Given the description of an element on the screen output the (x, y) to click on. 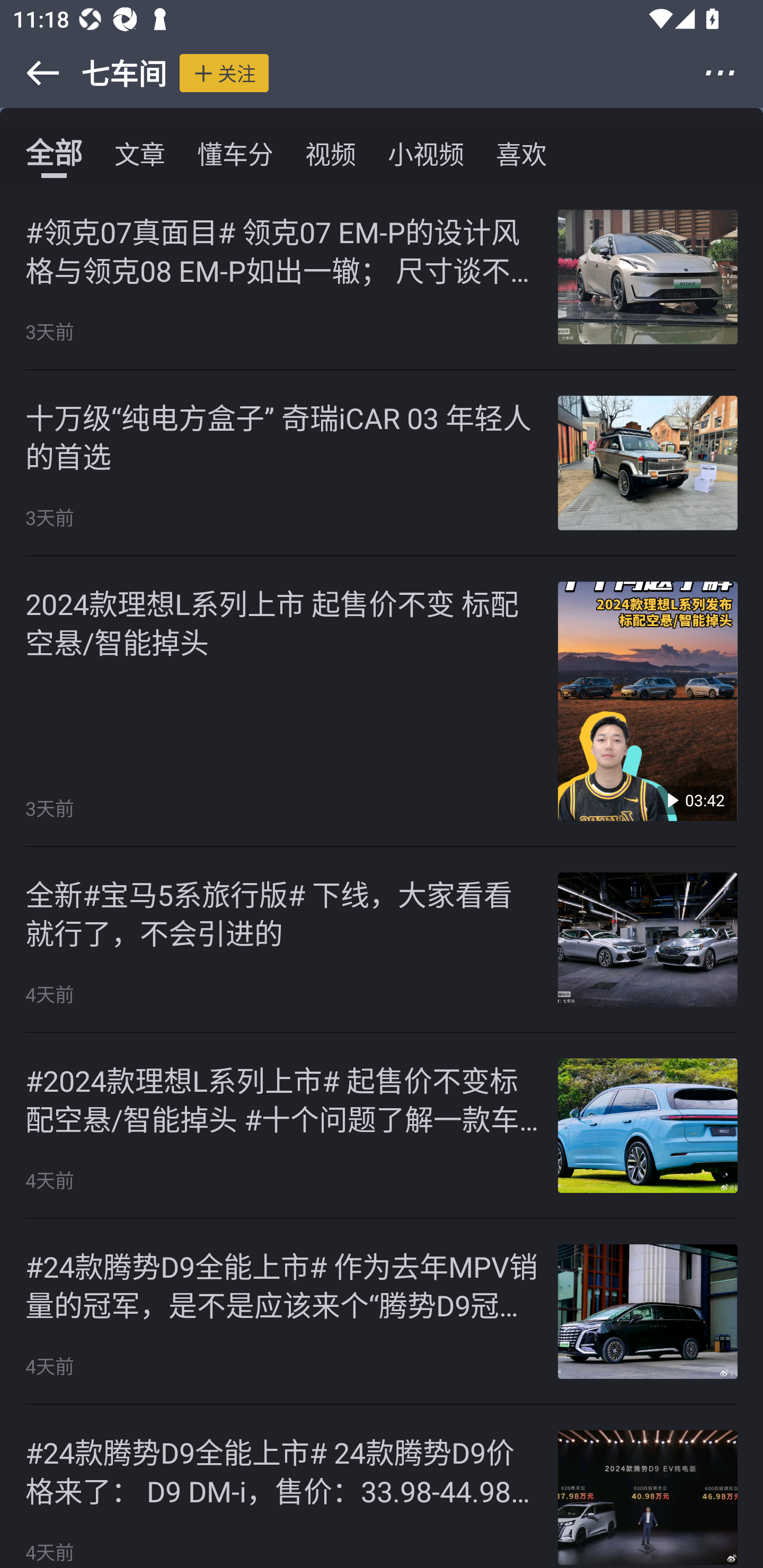
 (30, 72)
 (732, 72)
 关注 (223, 72)
全部 (53, 152)
文章 (139, 152)
懂车分 (234, 152)
视频 (330, 152)
小视频 (425, 152)
喜欢 (521, 152)
十万级“纯电方盒子” 奇瑞iCAR 03 年轻人的首选 3天前 (381, 463)
2024款理想L系列上市 起售价不变 标配空悬/智能掉头 3天前  03:42 (381, 701)
2024款理想L系列上市 起售价不变 标配空悬/智能掉头 (281, 621)
全新#宝马5系旅行版# 下线，大家看看就行了，不会引进的 4天前 (381, 939)
全新#宝马5系旅行版# 下线，大家看看就行了，不会引进的 (281, 912)
#24款腾势D9全能上市# 作为去年MPV销量的冠军，是不是应该来个“腾势D9冠军版” 4天前 (381, 1311)
#24款腾势D9全能上市# 作为去年MPV销量的冠军，是不是应该来个“腾势D9冠军版” (281, 1284)
